Given the description of an element on the screen output the (x, y) to click on. 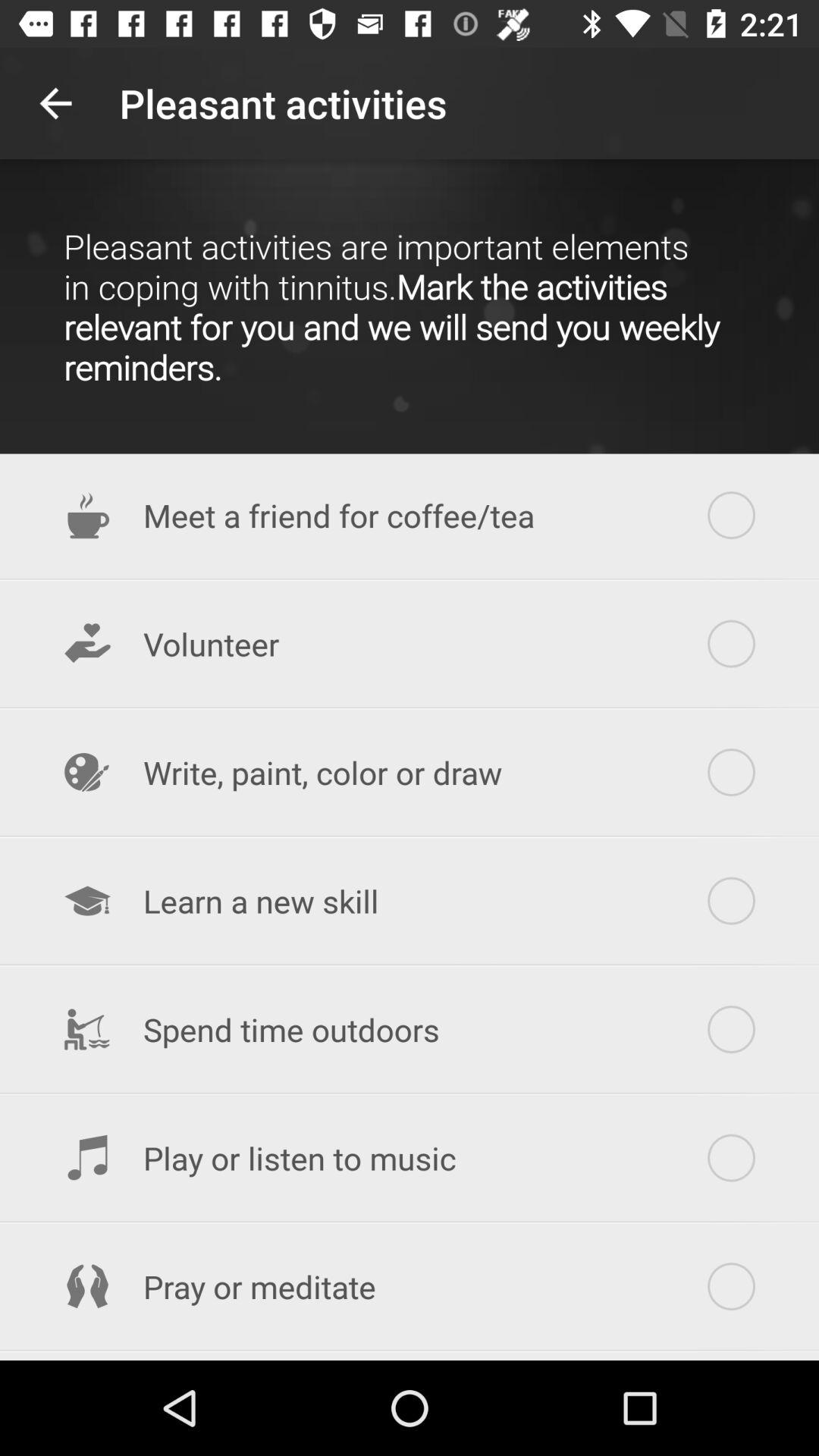
click icon below the play or listen item (409, 1286)
